Given the description of an element on the screen output the (x, y) to click on. 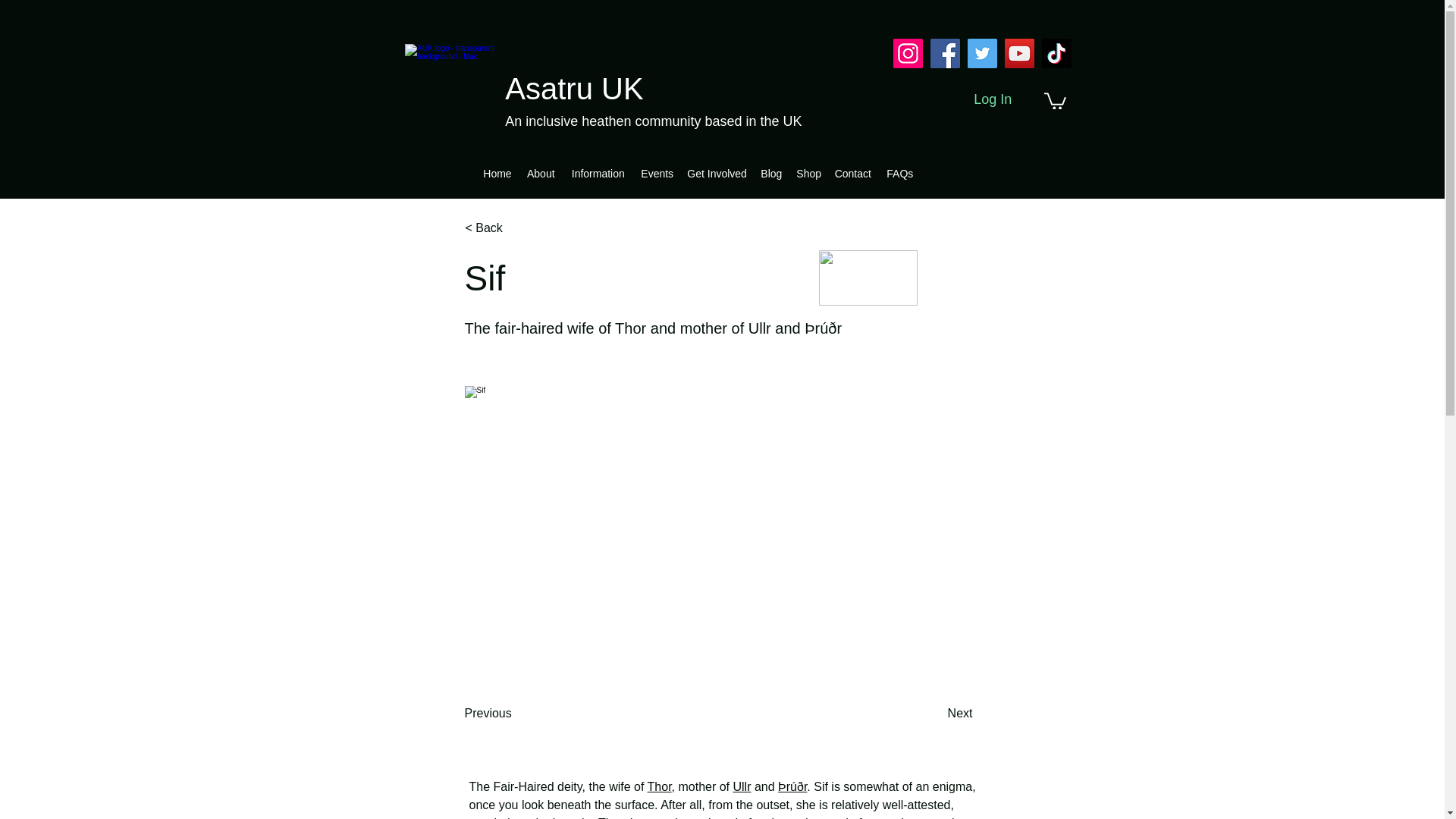
Contact (853, 173)
Thor (659, 786)
Blog (770, 173)
youtube.jpg (867, 277)
About (540, 173)
Previous (514, 713)
Next (934, 713)
Events (656, 173)
FAQs (898, 173)
Log In (992, 99)
Ullr (741, 786)
Shop (808, 173)
Home (497, 173)
Get Involved (715, 173)
